Given the description of an element on the screen output the (x, y) to click on. 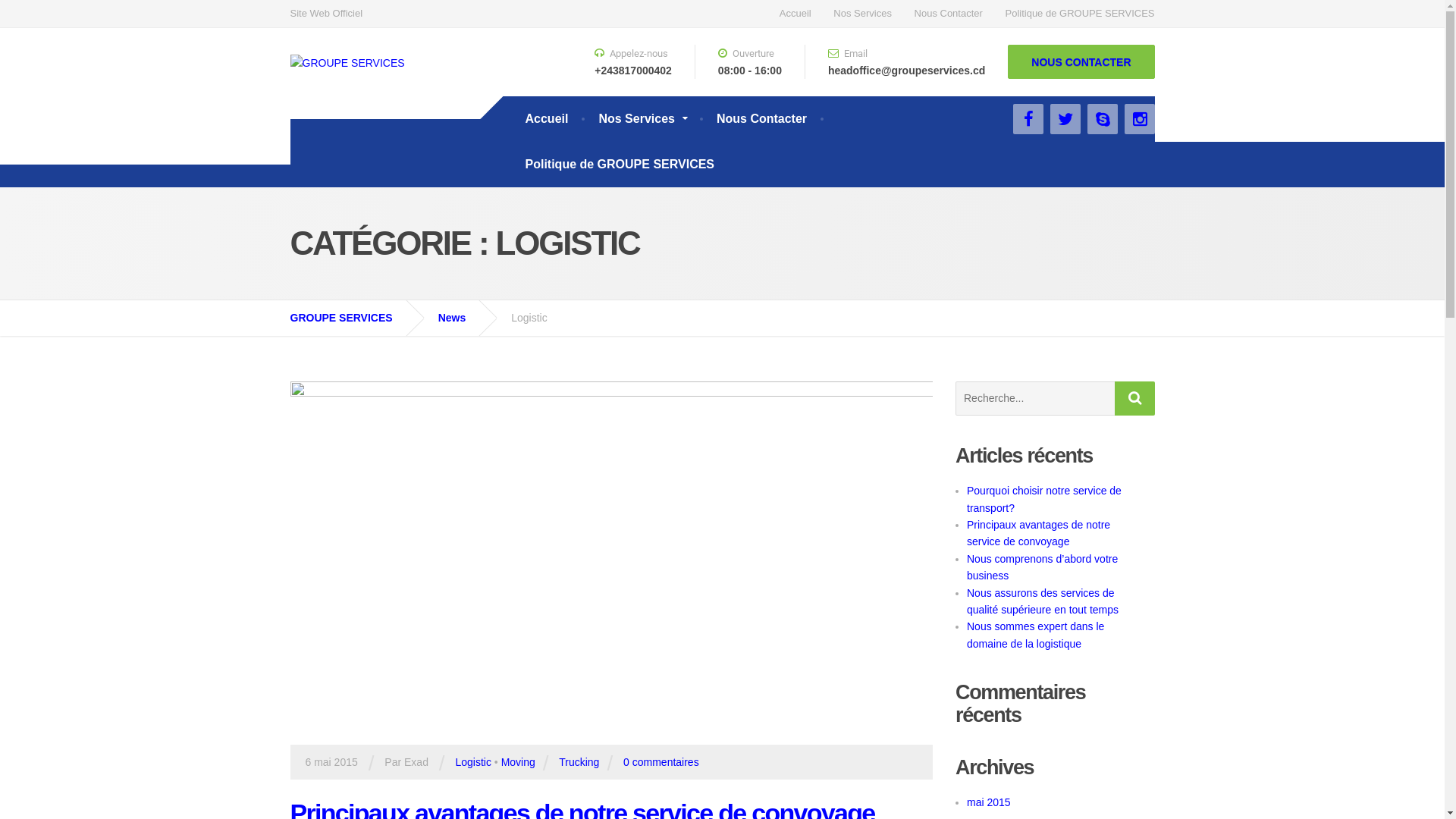
Nous Contacter Element type: text (761, 118)
Nous Contacter Element type: text (948, 13)
Principaux avantages de notre service de convoyage Element type: text (1038, 532)
Moving Element type: text (518, 762)
Politique de GROUPE SERVICES Element type: text (619, 164)
Accueil Element type: text (795, 13)
Politique de GROUPE SERVICES Element type: text (1074, 13)
Accueil Element type: text (546, 118)
Nos Services Element type: text (642, 118)
Logistic Element type: text (472, 762)
Pourquoi choisir notre service de transport? Element type: text (1043, 498)
Trucking Element type: text (578, 762)
GROUPE SERVICES Element type: text (351, 317)
mai 2015 Element type: text (988, 802)
0 commentaires Element type: text (661, 762)
Nous sommes expert dans le domaine de la logistique Element type: text (1035, 634)
NOUS CONTACTER Element type: text (1080, 61)
Nos Services Element type: text (862, 13)
News Element type: text (463, 317)
